Given the description of an element on the screen output the (x, y) to click on. 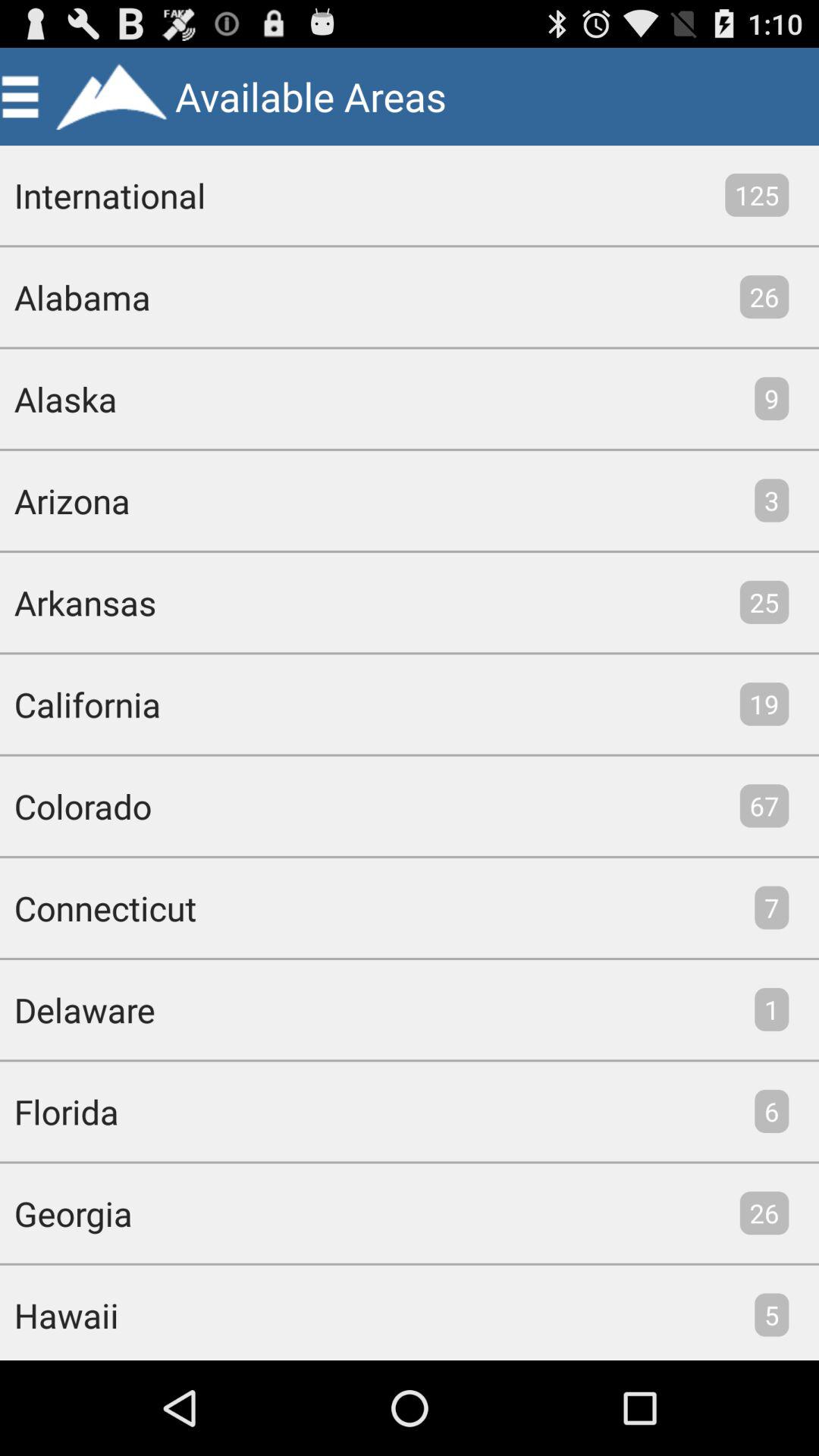
click the item below the alaska item (65, 500)
